Given the description of an element on the screen output the (x, y) to click on. 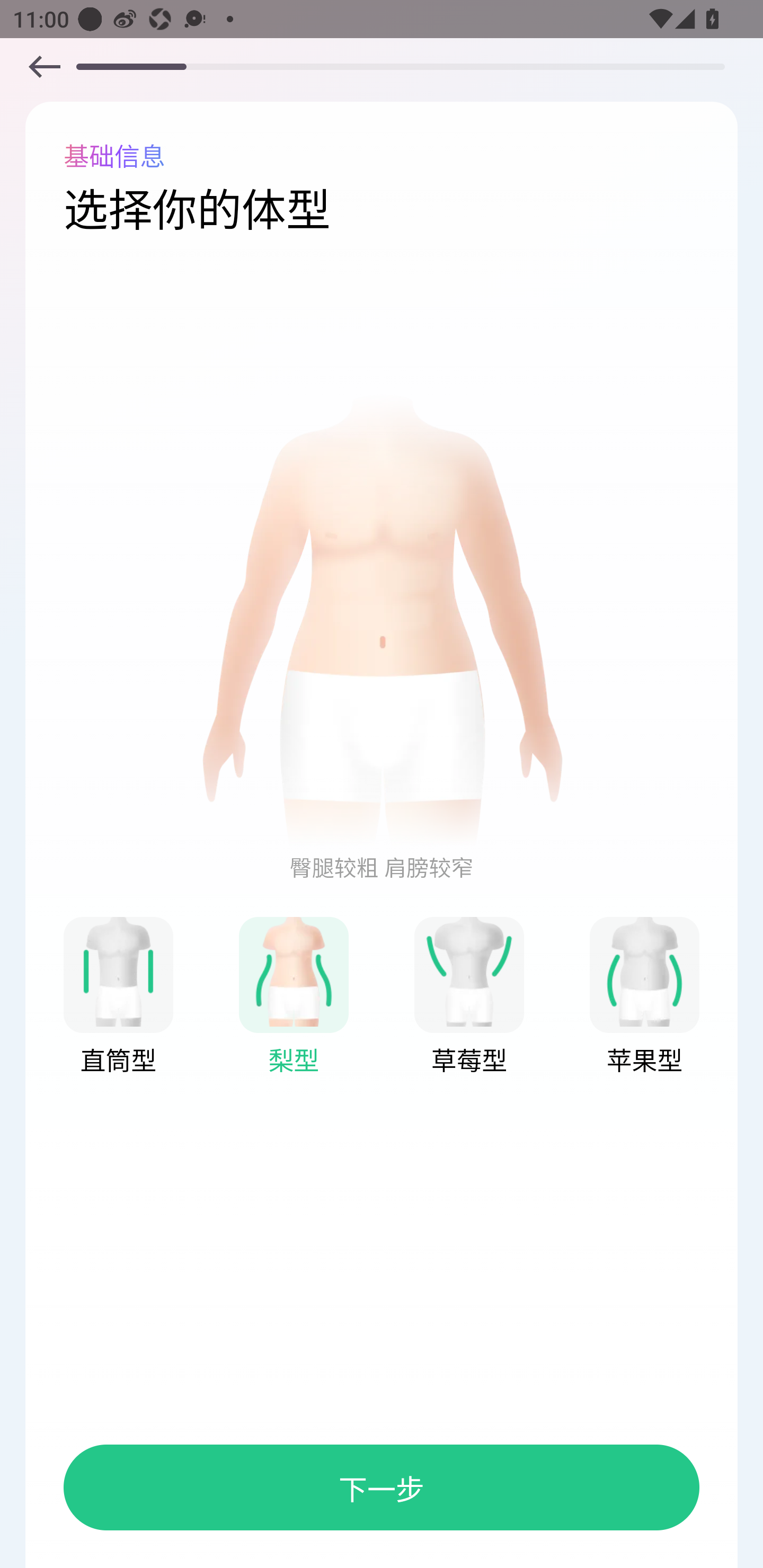
1 (44, 66)
1 (381, 618)
1   1 直筒型 (118, 996)
1 (118, 971)
1   1 梨型 (293, 996)
1 (293, 971)
1   1 草莓型 (468, 996)
1 (468, 971)
1   1 苹果型 (644, 996)
1 (644, 971)
下一步 (381, 1487)
